Given the description of an element on the screen output the (x, y) to click on. 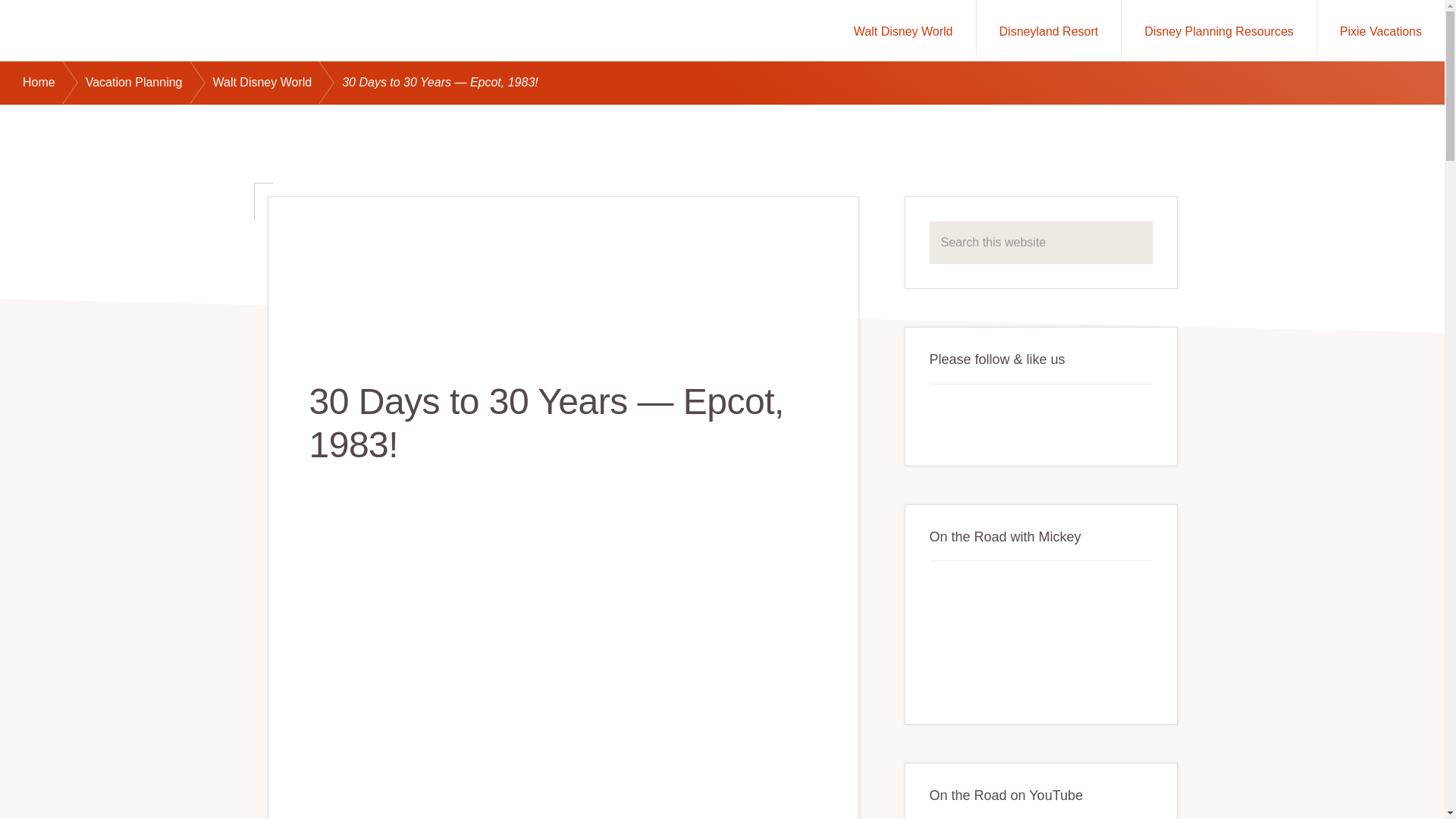
Disneyland Resort (1048, 30)
Facebook (947, 417)
Close and accept (1372, 788)
Walt Disney World (903, 30)
YouTube (980, 417)
Twitter (1015, 417)
